Given the description of an element on the screen output the (x, y) to click on. 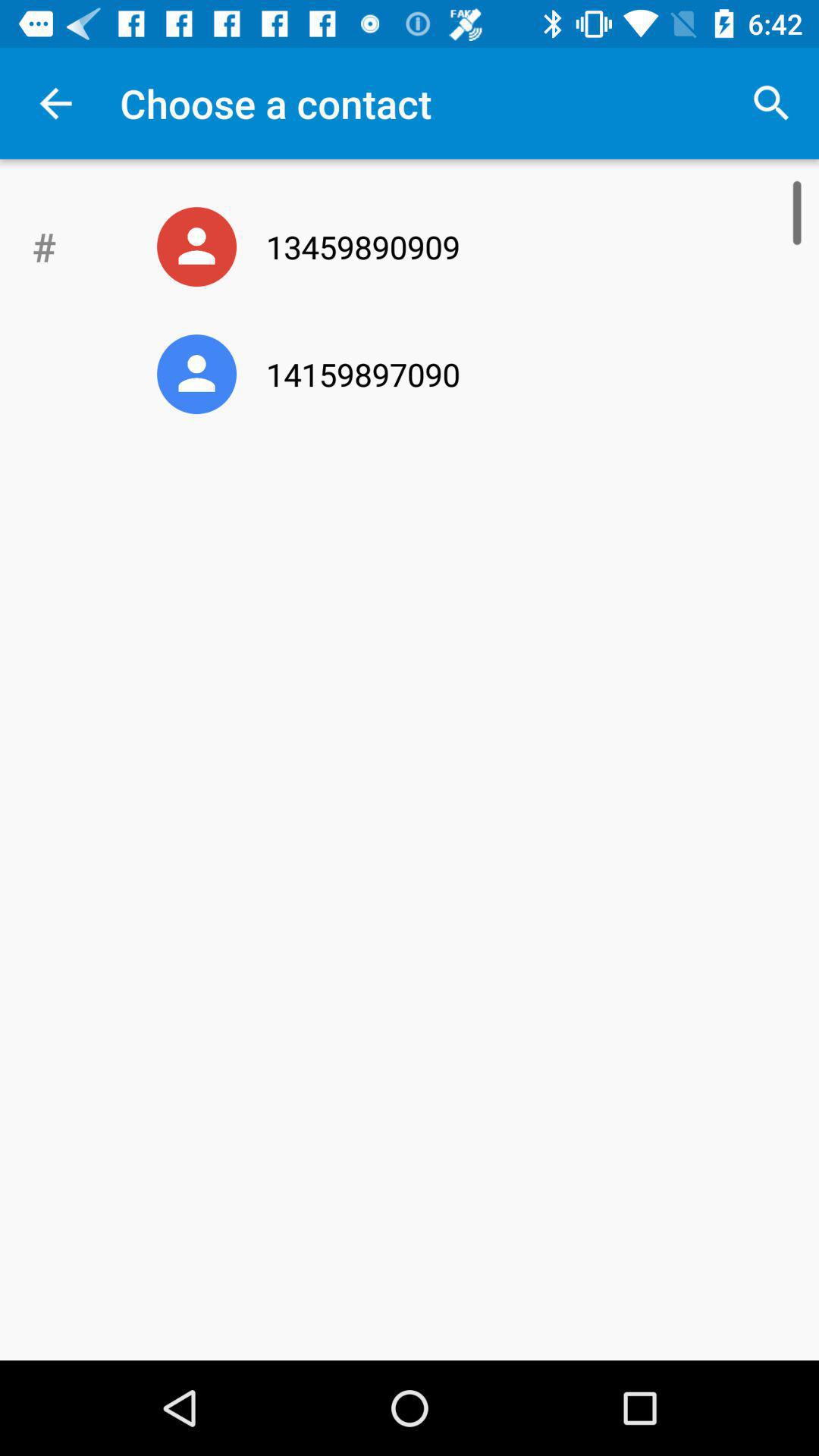
launch app above the # app (55, 103)
